Given the description of an element on the screen output the (x, y) to click on. 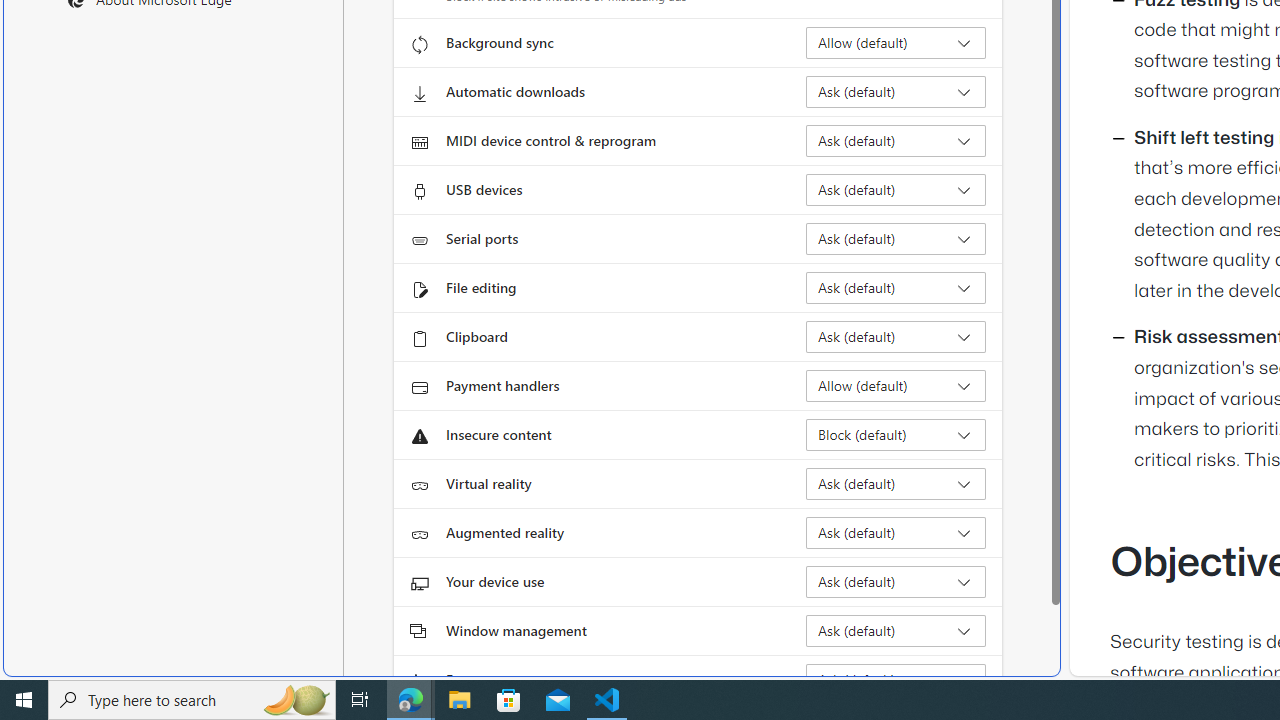
Background sync Allow (default) (895, 43)
File editing Ask (default) (895, 287)
MIDI device control & reprogram Ask (default) (895, 140)
Window management Ask (default) (895, 630)
USB devices Ask (default) (895, 189)
Serial ports Ask (default) (895, 238)
Virtual reality Ask (default) (895, 483)
Augmented reality Ask (default) (895, 532)
Your device use Ask (default) (895, 581)
Automatic downloads Ask (default) (895, 92)
Insecure content Block (default) (895, 434)
Fonts Ask (default) (895, 679)
Clipboard Ask (default) (895, 336)
Payment handlers Allow (default) (895, 385)
